Given the description of an element on the screen output the (x, y) to click on. 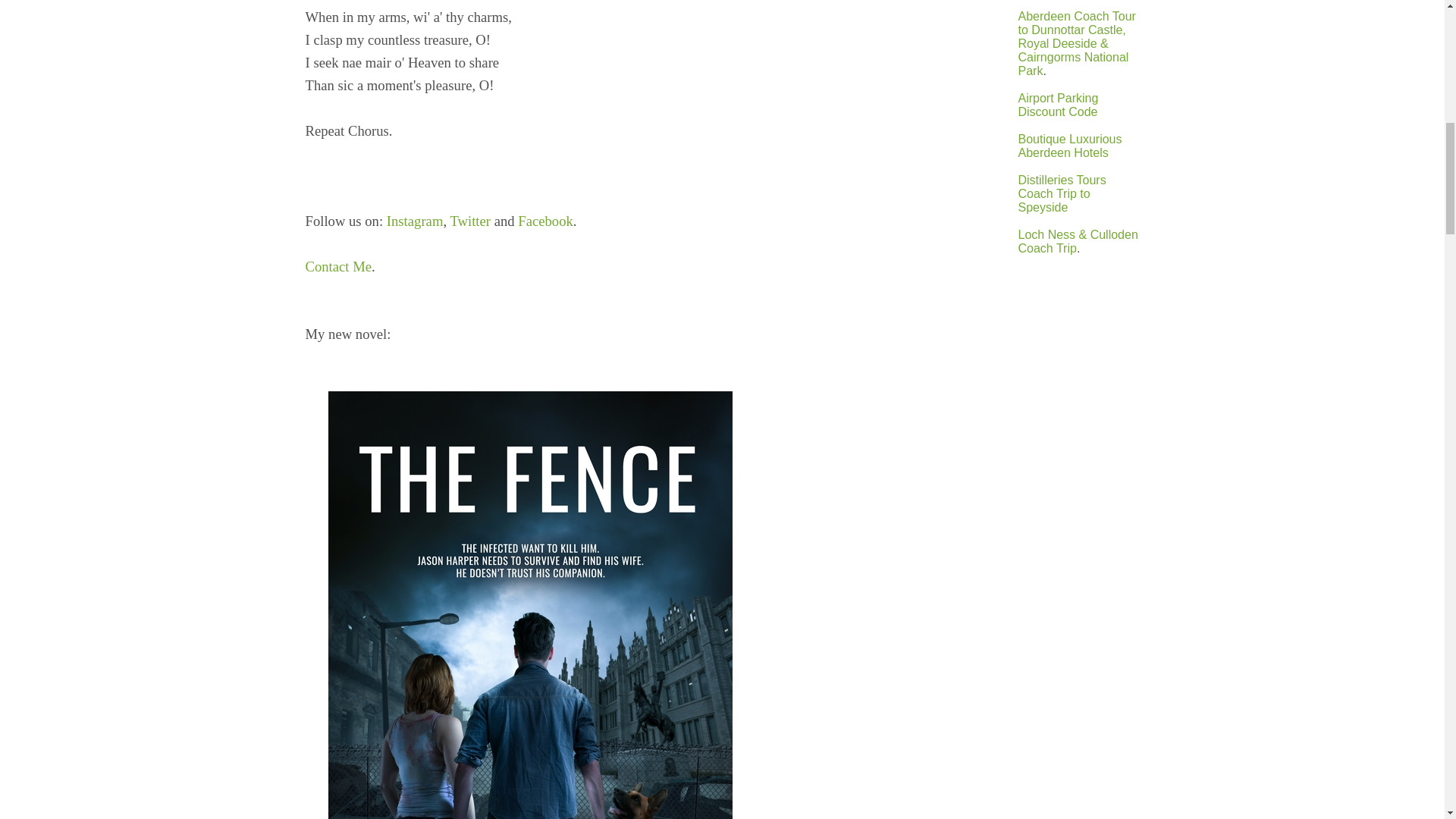
Contact Me (337, 266)
Twitter (469, 220)
Instagram (415, 220)
Facebook (545, 220)
